Given the description of an element on the screen output the (x, y) to click on. 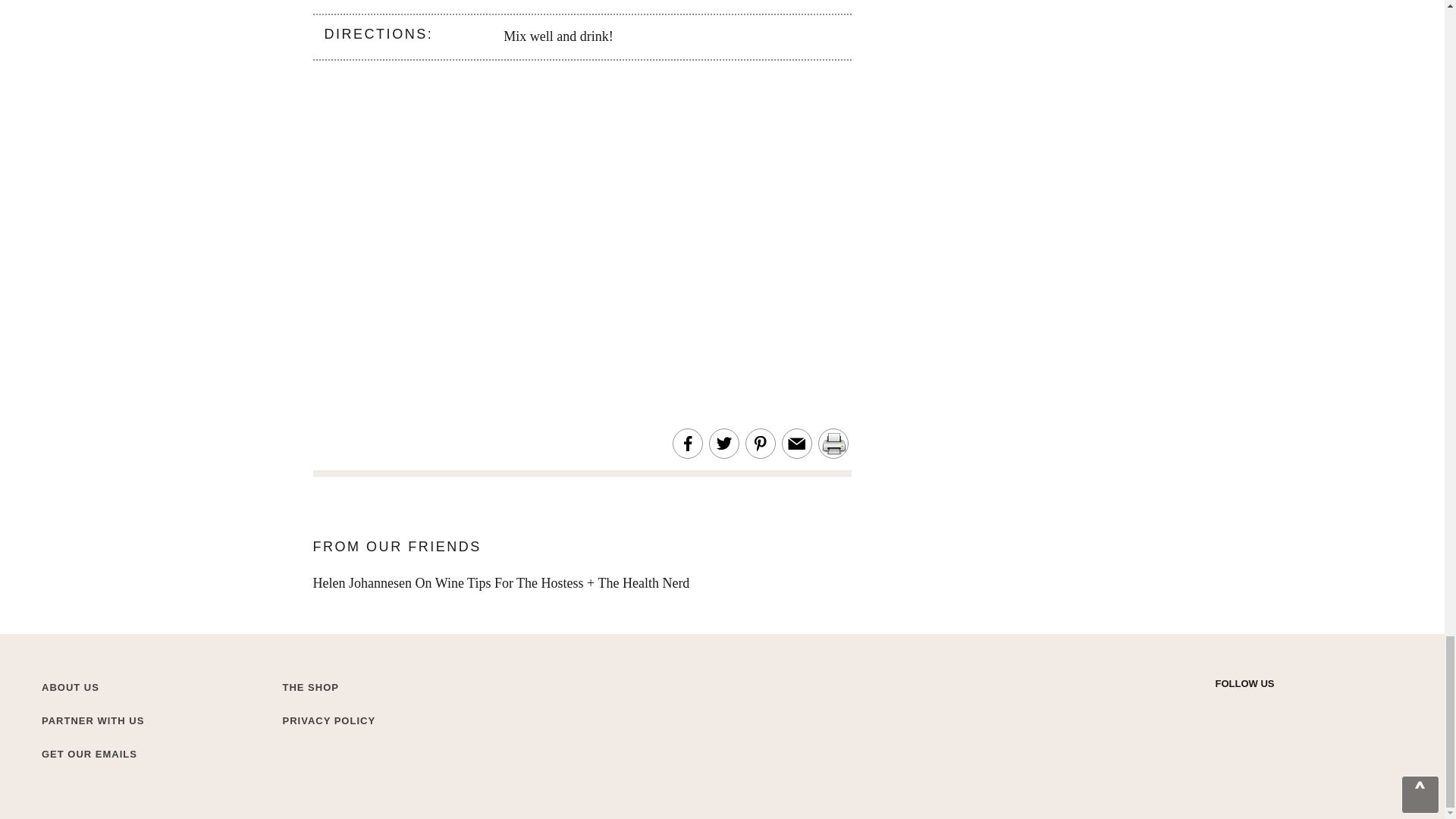
Email this article (797, 443)
Instagram (1249, 708)
Twitter (1222, 708)
Share this article on Twitter (724, 443)
Share an image of this article on Pinterest (760, 443)
Facebook (1275, 708)
Share this article on Facebook (687, 443)
Pinterest (1302, 708)
